Given the description of an element on the screen output the (x, y) to click on. 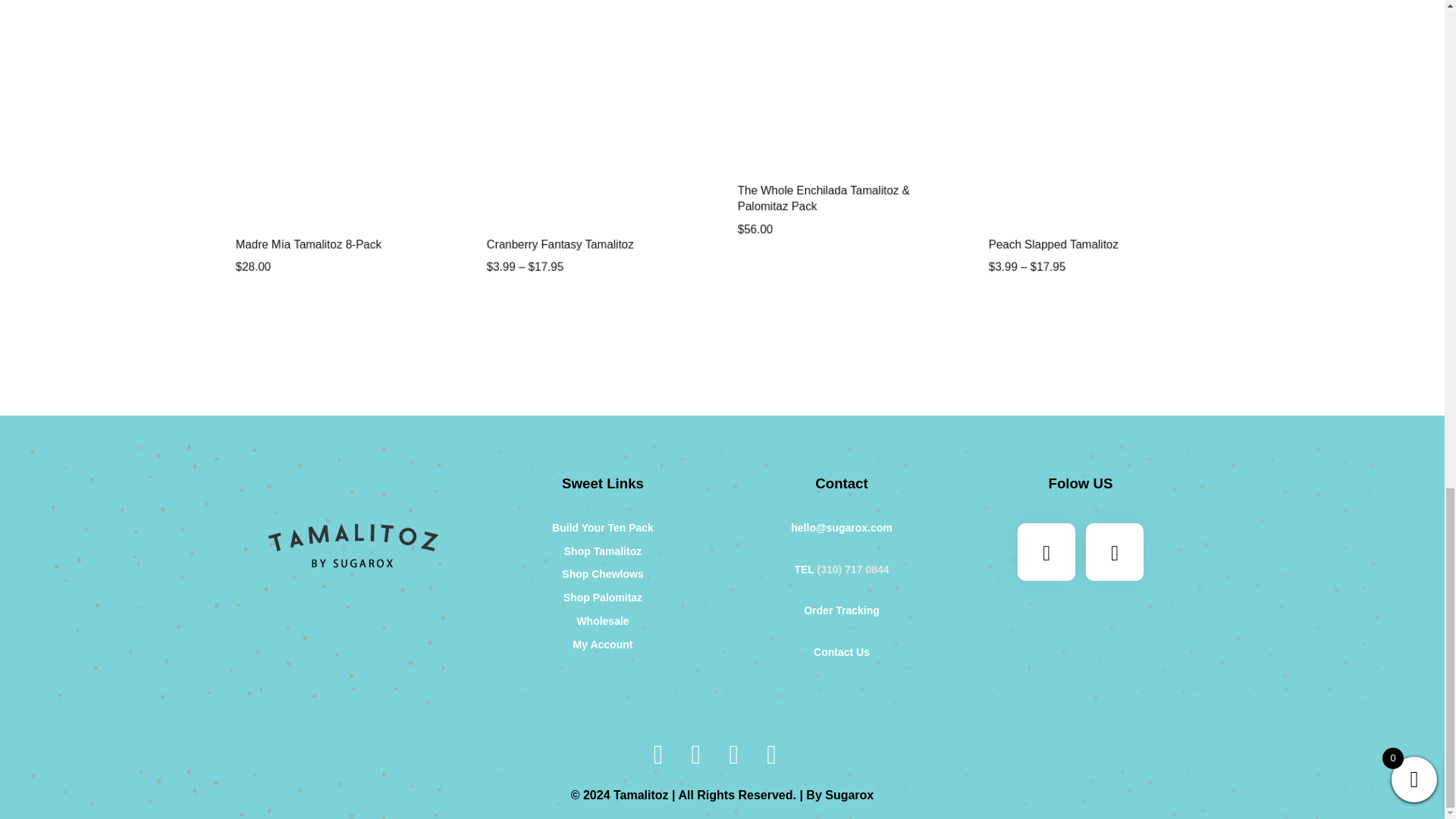
Cranberry Fantasy Tamalitoz (602, 256)
